Given the description of an element on the screen output the (x, y) to click on. 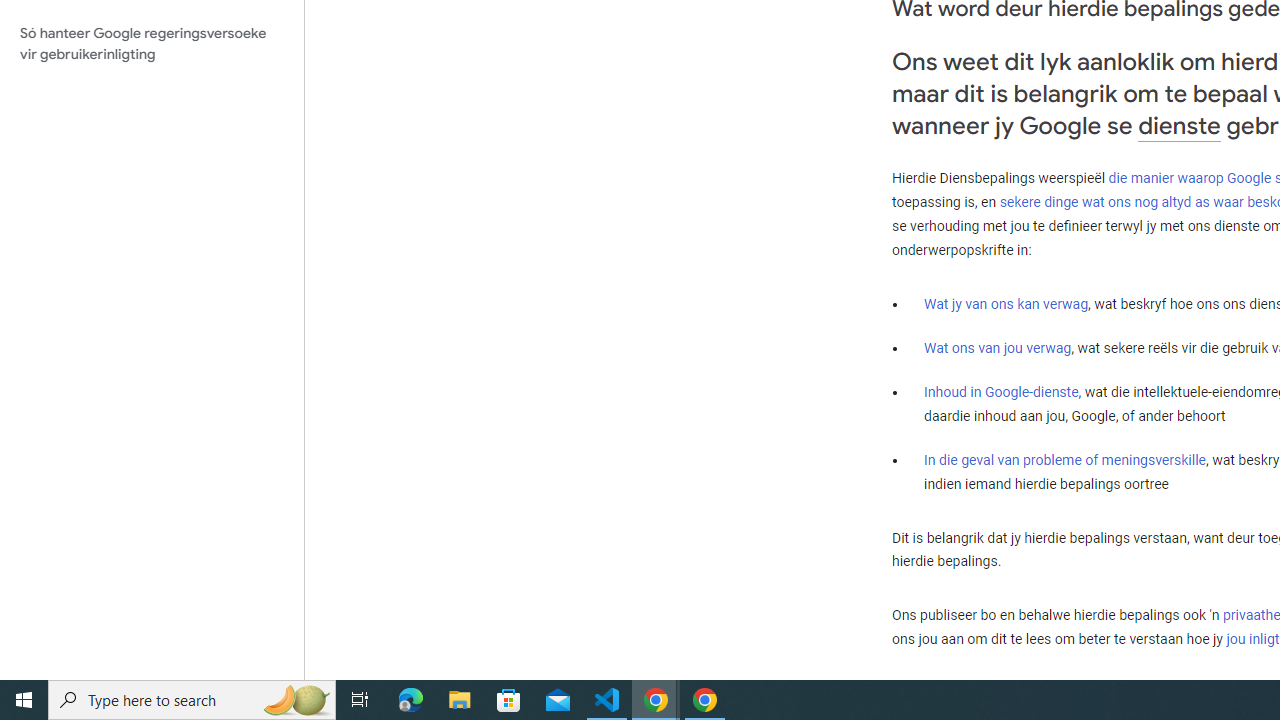
Google Chrome - 2 running windows (656, 699)
Type here to search (191, 699)
Task View (359, 699)
Microsoft Store (509, 699)
Google Chrome - 1 running window (704, 699)
Wat jy van ons kan verwag (1006, 304)
File Explorer (460, 699)
Inhoud in Google-dienste (1001, 392)
Search highlights icon opens search home window (295, 699)
dienste (1179, 125)
Start (24, 699)
Wat ons van jou verwag (998, 348)
Visual Studio Code - 1 running window (607, 699)
